Given the description of an element on the screen output the (x, y) to click on. 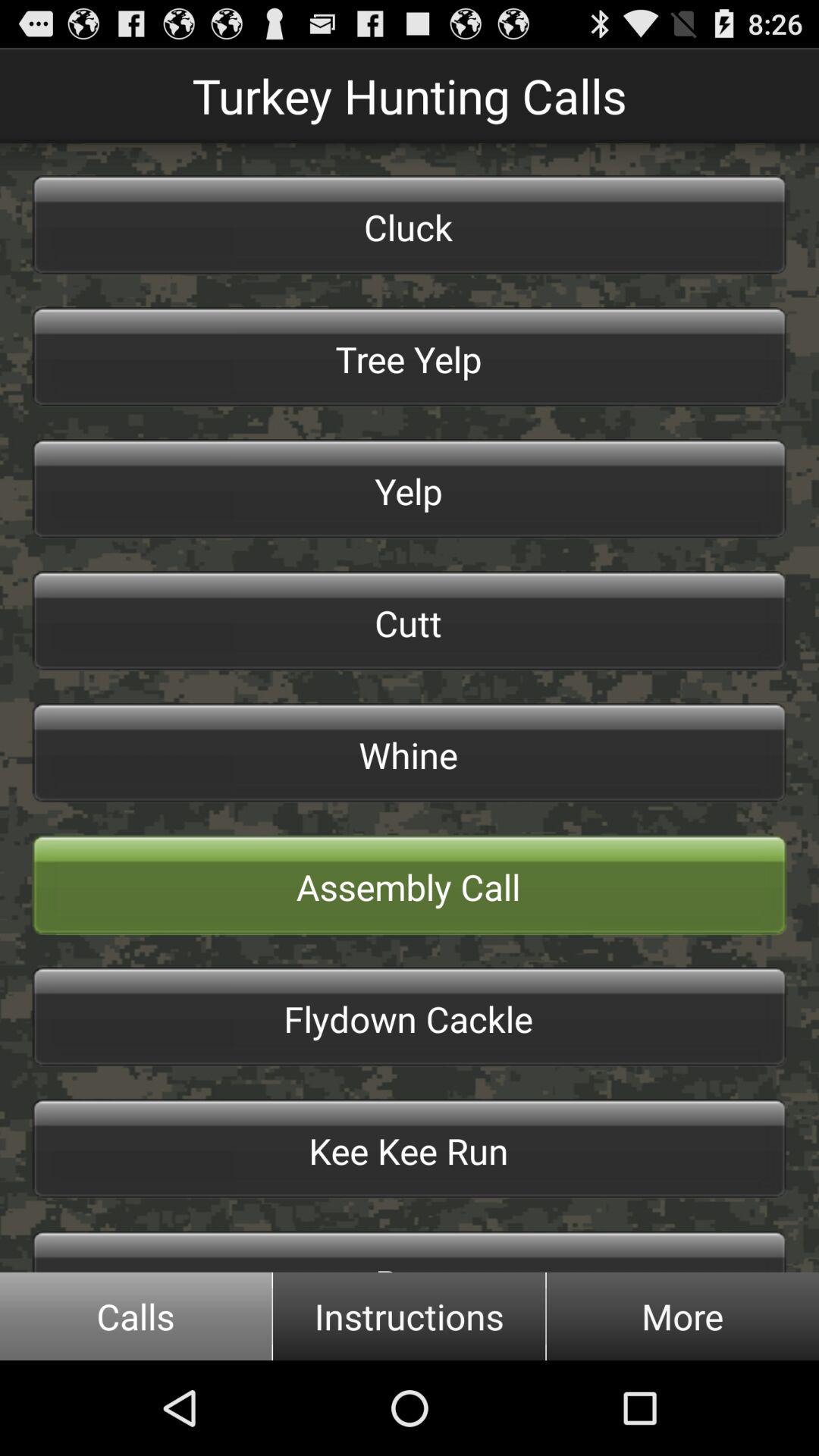
turn off the purr icon (409, 1251)
